Given the description of an element on the screen output the (x, y) to click on. 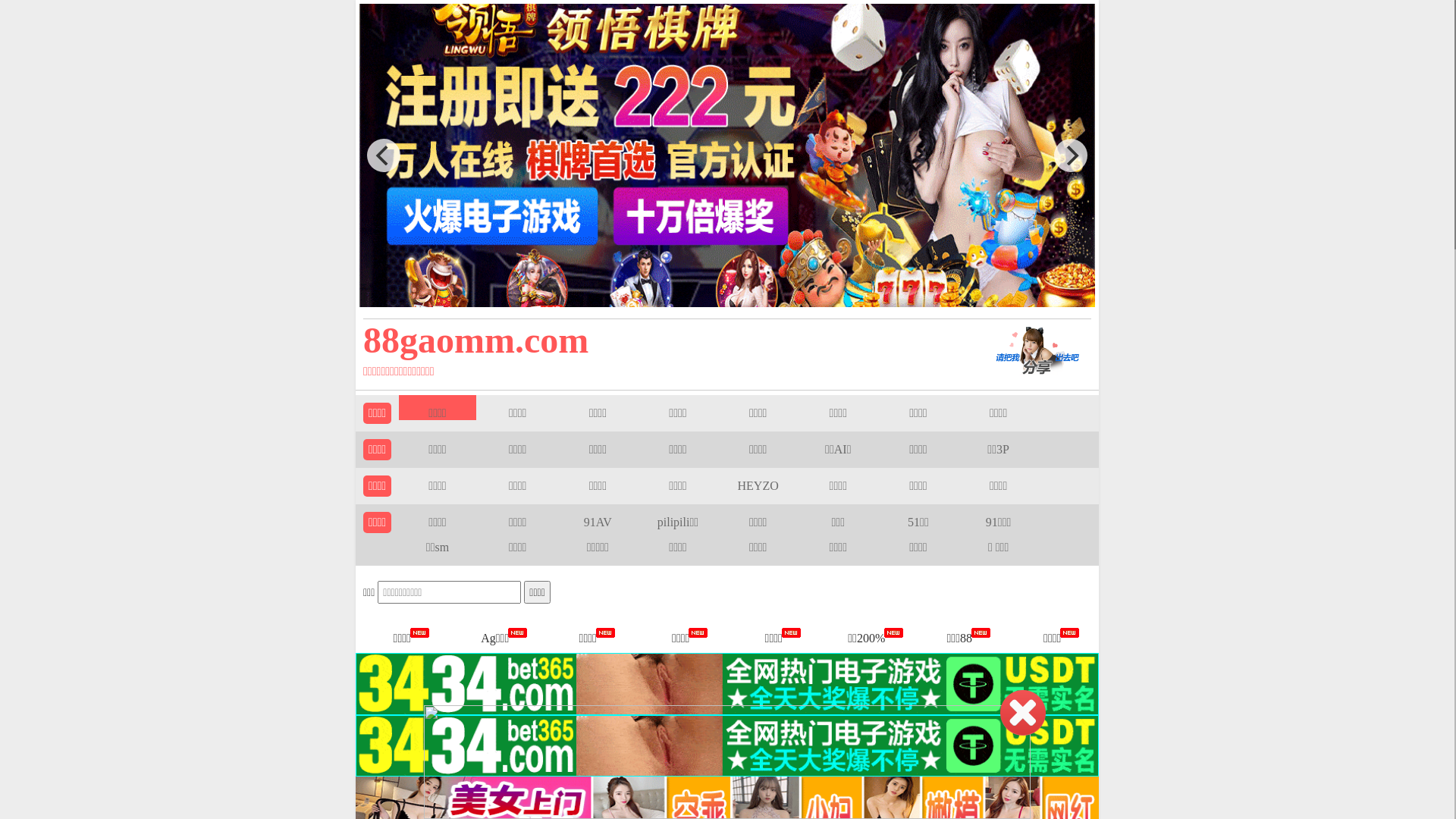
91AV Element type: text (597, 521)
88gaomm.com Element type: text (654, 339)
HEYZO Element type: text (757, 485)
